Given the description of an element on the screen output the (x, y) to click on. 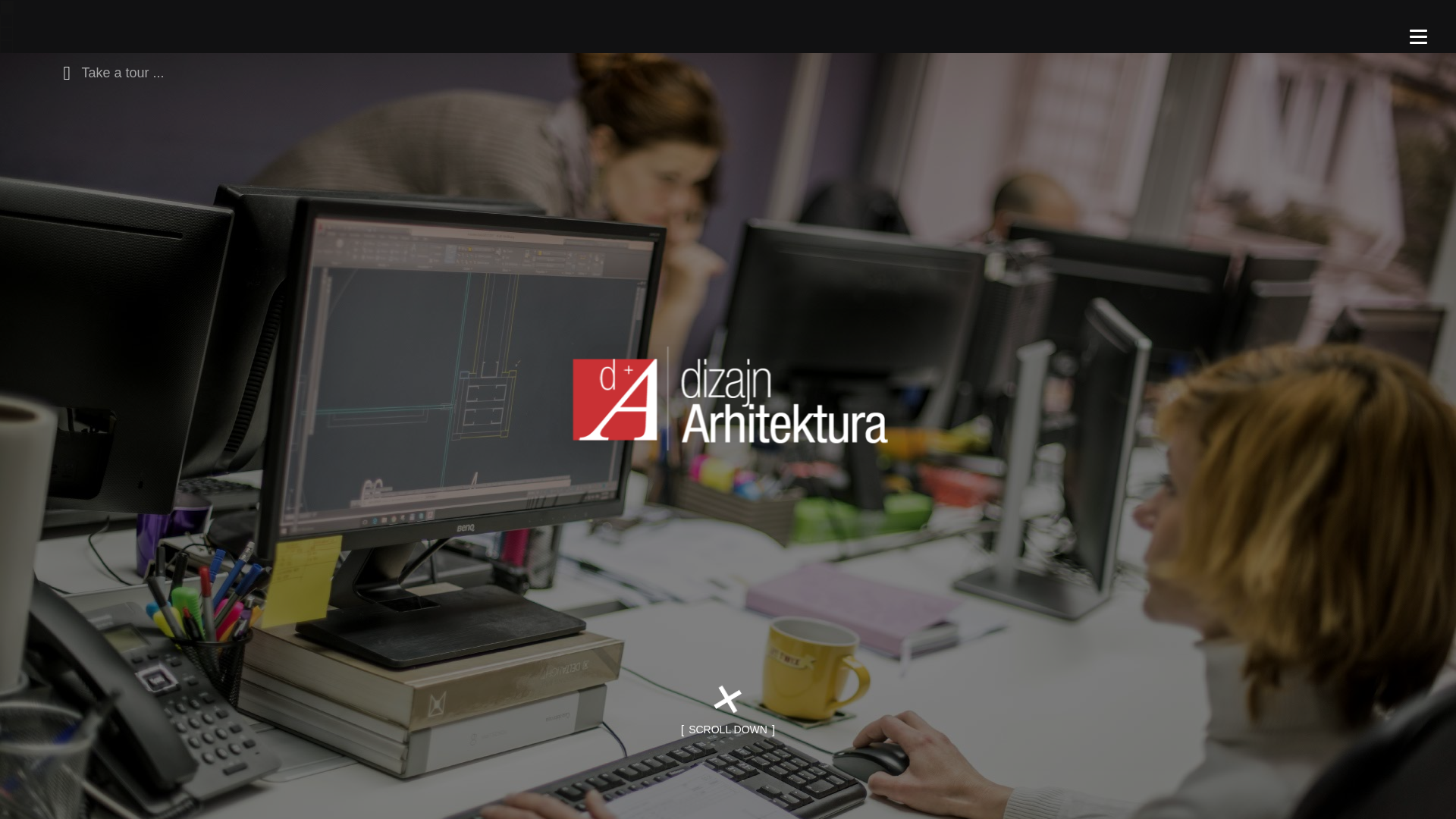
Take a tour ... (109, 70)
SCROLL DOWN (727, 730)
